Given the description of an element on the screen output the (x, y) to click on. 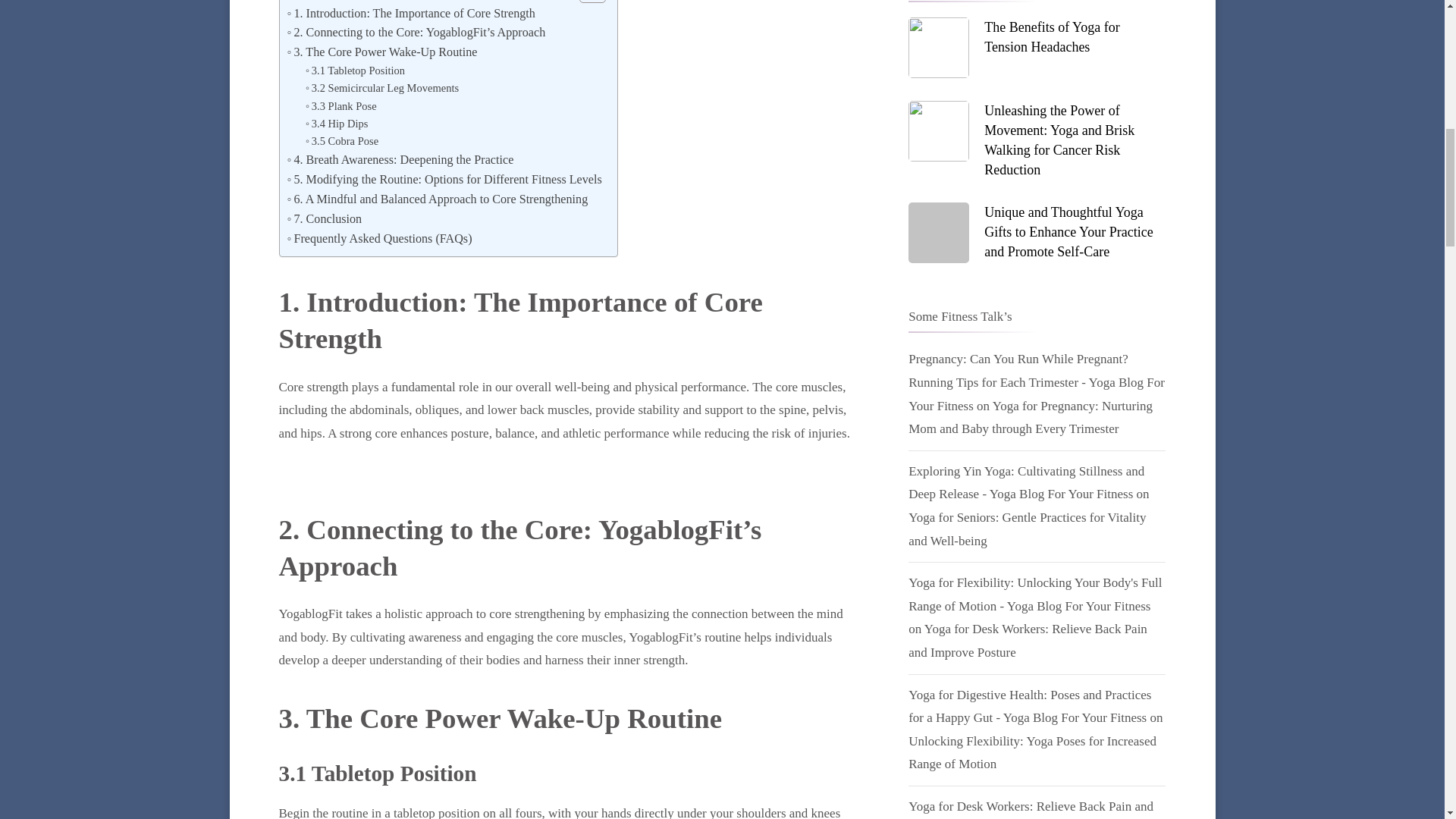
1. Introduction: The Importance of Core Strength (410, 13)
3.4 Hip Dips (336, 123)
3.3 Plank Pose (341, 106)
1. Introduction: The Importance of Core Strength (410, 13)
4. Breath Awareness: Deepening the Practice (399, 159)
3.1 Tabletop Position (354, 70)
6. A Mindful and Balanced Approach to Core Strengthening (437, 199)
3.5 Cobra Pose (341, 140)
3.2 Semicircular Leg Movements (381, 88)
3. The Core Power Wake-Up Routine (381, 52)
7. Conclusion (323, 219)
